Given the description of an element on the screen output the (x, y) to click on. 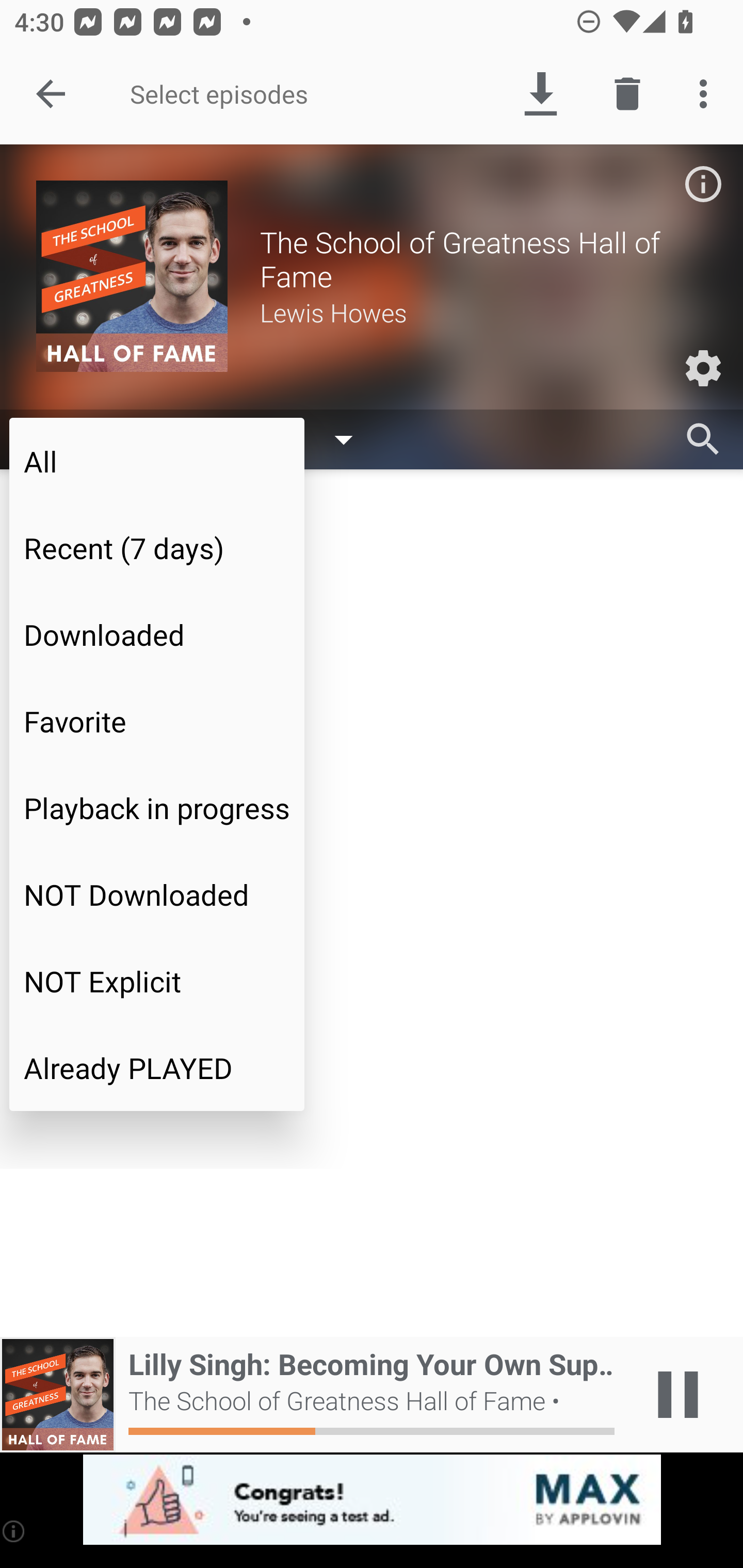
All (156, 460)
Recent (7 days) (156, 547)
Downloaded (156, 634)
Favorite (156, 721)
Playback in progress (156, 808)
NOT Downloaded (156, 894)
NOT Explicit (156, 980)
Already PLAYED (156, 1067)
